Given the description of an element on the screen output the (x, y) to click on. 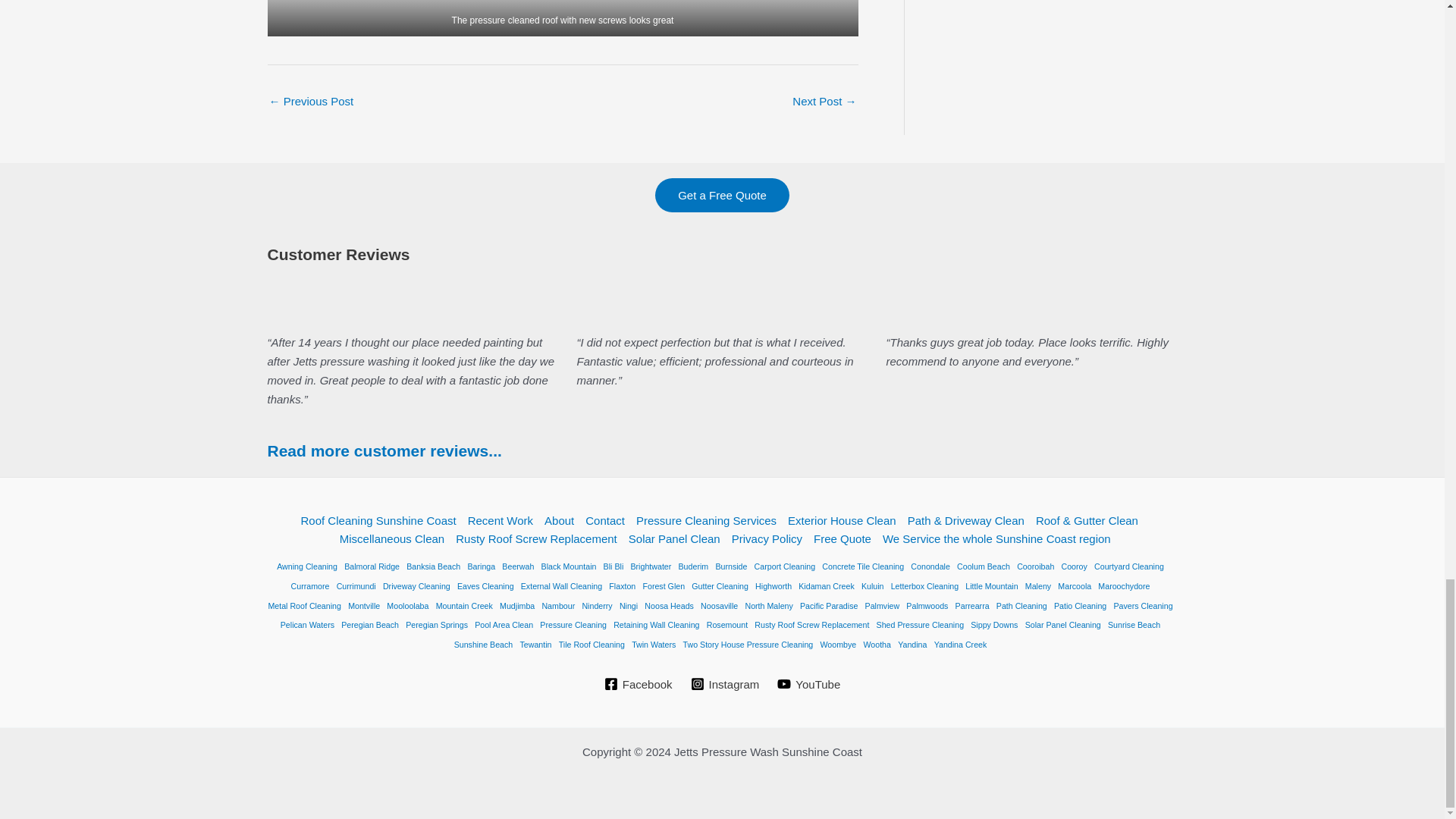
Metal Roof Clean Twin Waters (824, 102)
Concrete Tile Roof Clean Palmwoods (310, 102)
